Given the description of an element on the screen output the (x, y) to click on. 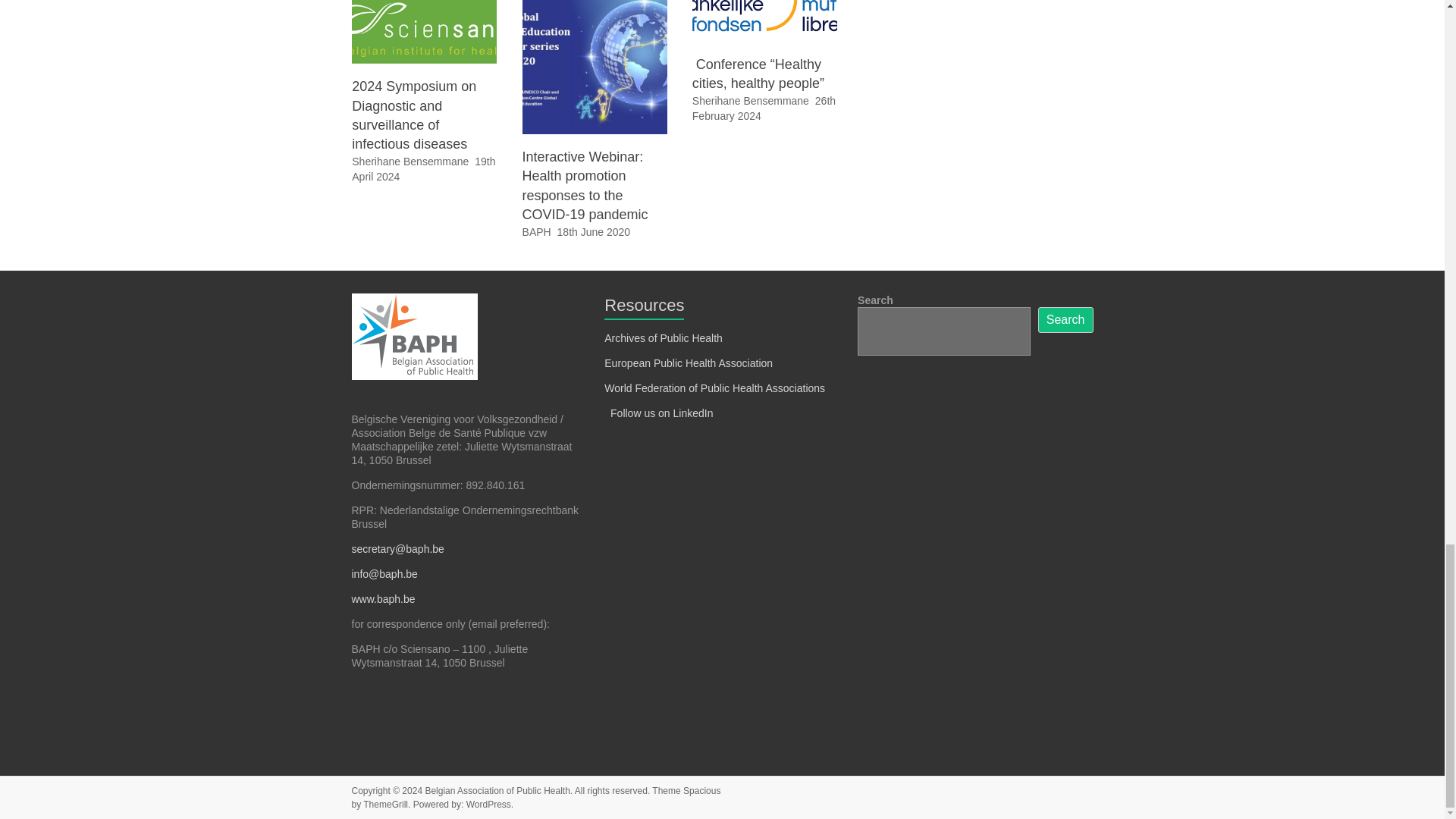
Sherihane Bensemmane (751, 101)
7:10 pm (593, 232)
Sherihane Bensemmane (410, 161)
